Given the description of an element on the screen output the (x, y) to click on. 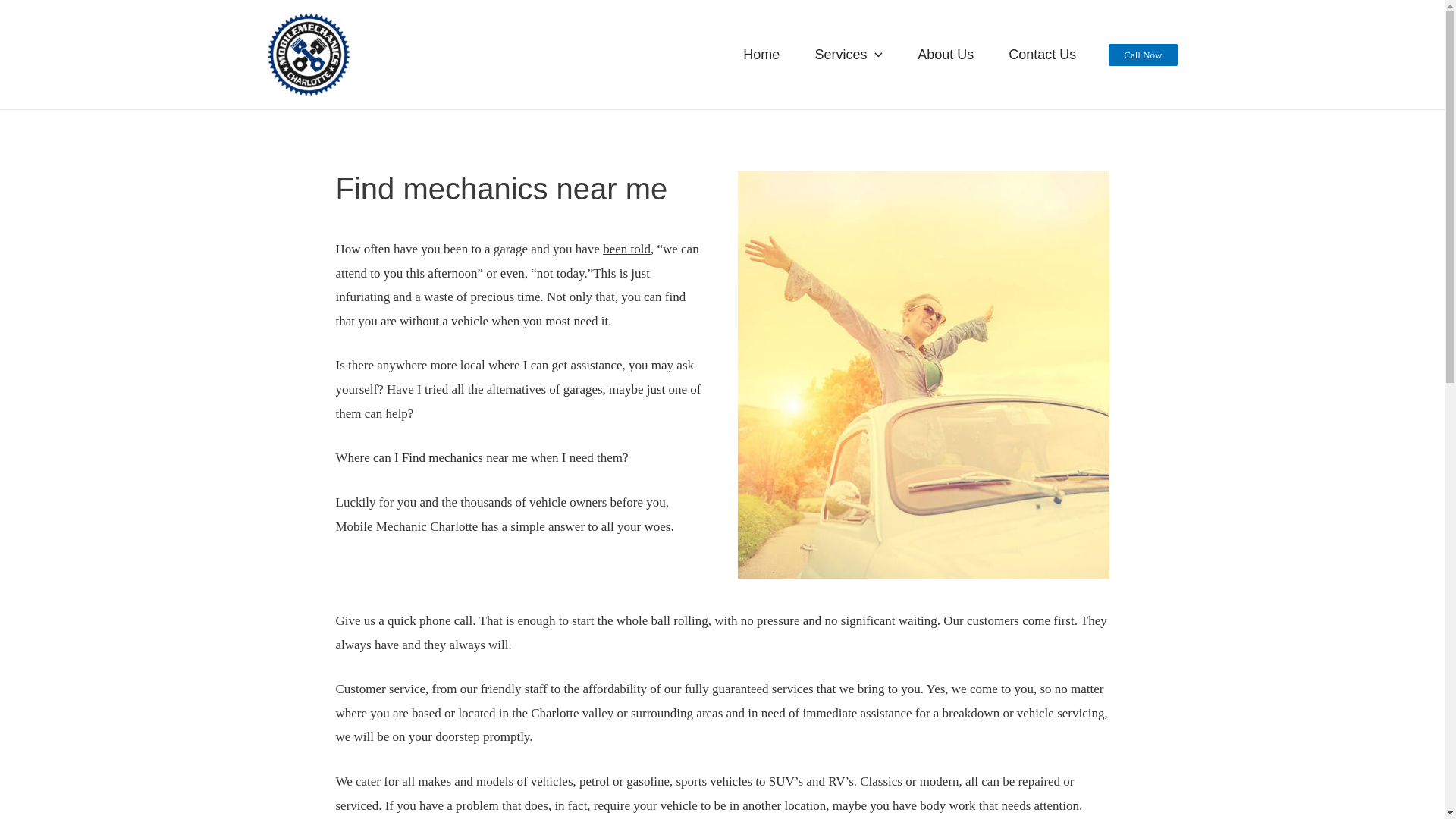
Home (761, 54)
Contact Us (1041, 54)
Services (848, 54)
About Us (945, 54)
Call Now (1142, 55)
